Given the description of an element on the screen output the (x, y) to click on. 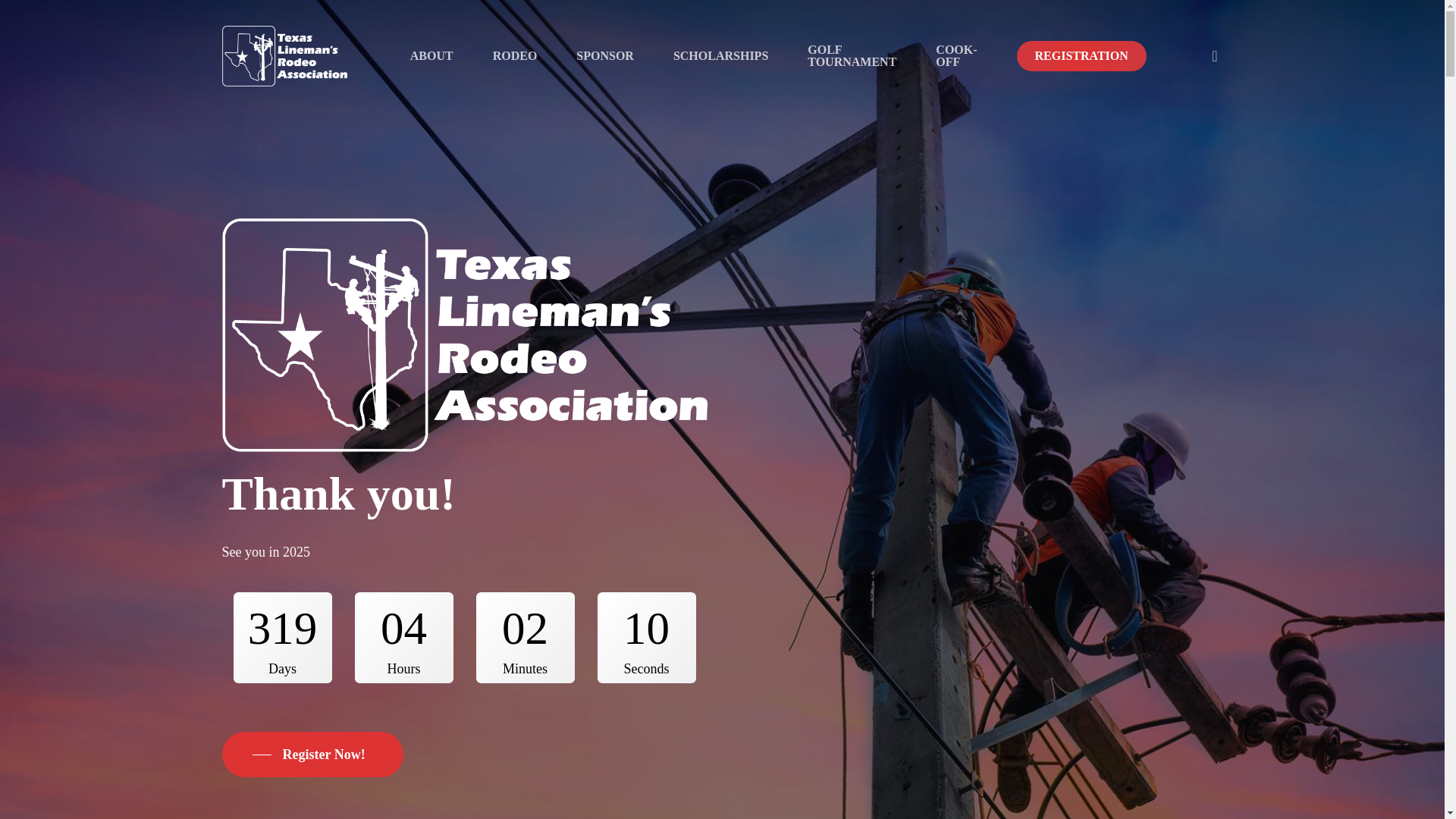
search (1214, 56)
SCHOLARSHIPS (720, 55)
COOK-OFF (956, 55)
GOLF TOURNAMENT (852, 55)
REGISTRATION (1081, 55)
RODEO (515, 55)
SPONSOR (604, 55)
ABOUT (431, 55)
Register Now! (311, 753)
